Given the description of an element on the screen output the (x, y) to click on. 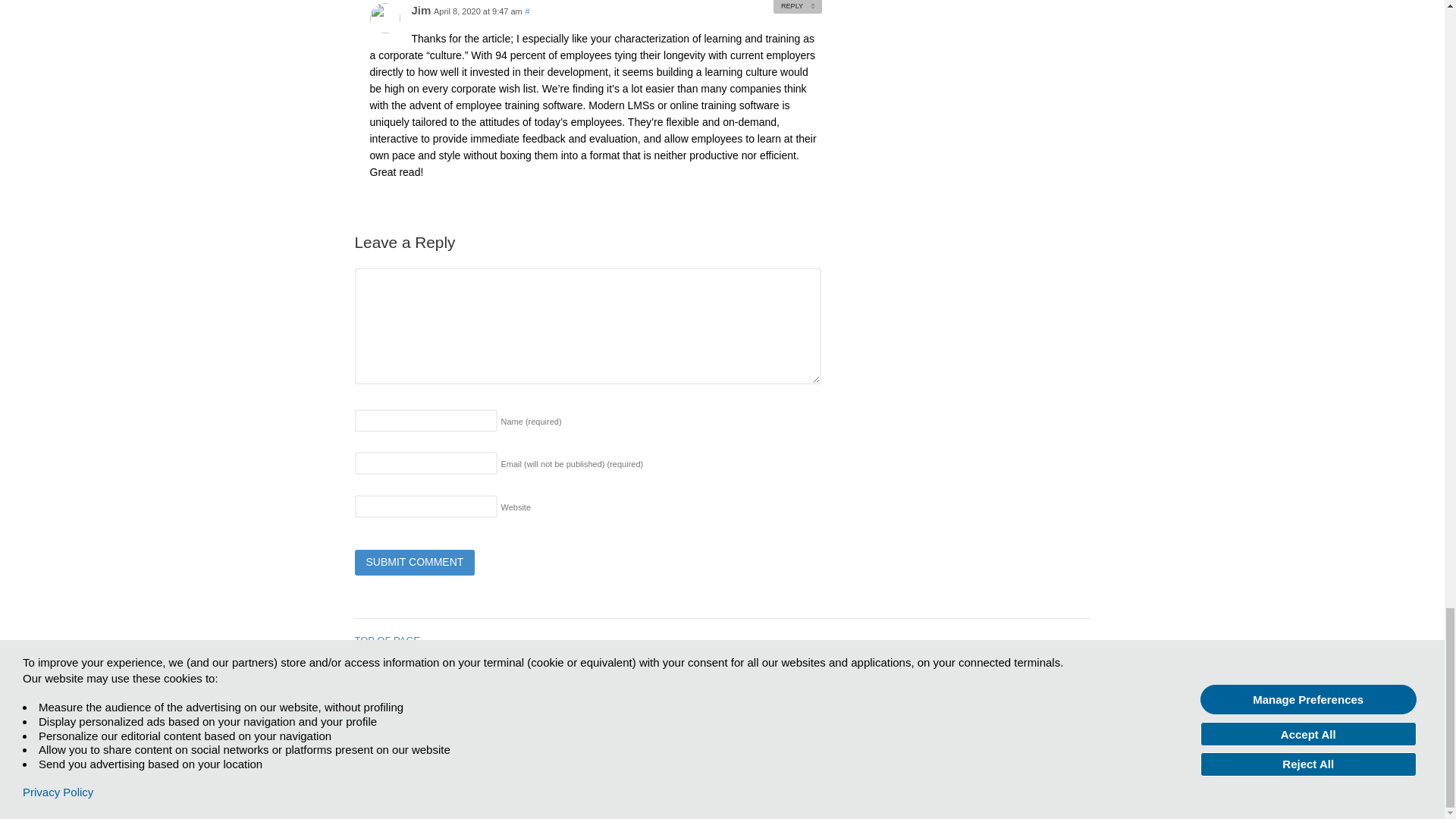
Submit Comment (415, 562)
